Given the description of an element on the screen output the (x, y) to click on. 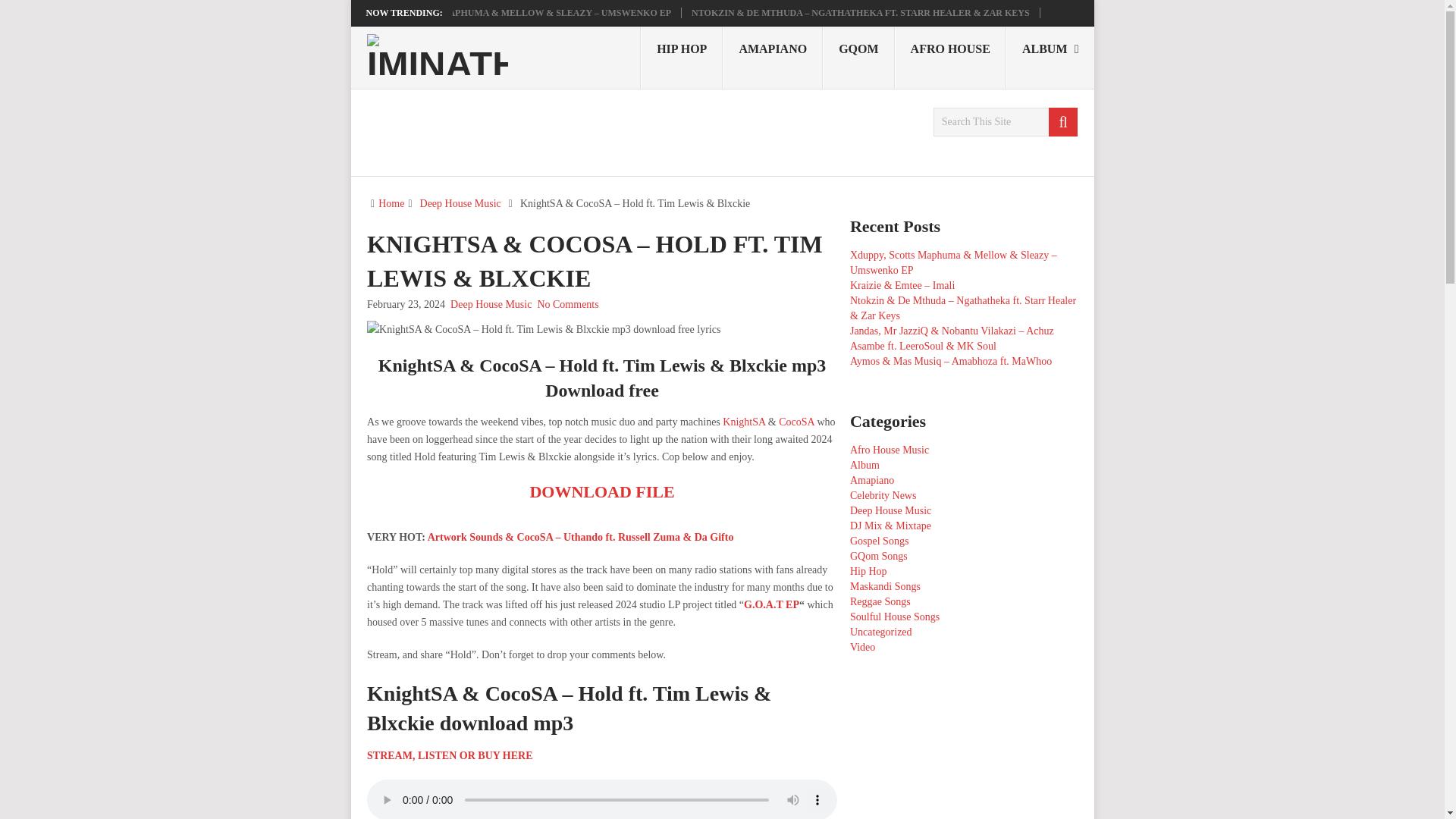
Download gQom Songs (857, 57)
Afro House Music Download (950, 57)
SA Hip Hop (681, 57)
HIP HOP (681, 57)
ALBUM (1050, 57)
AMAPIANO (772, 57)
KnightSA (743, 421)
GQOM (857, 57)
CocoSA (795, 421)
STREAM, LISTEN OR BUY HERE (449, 755)
G.O.A.T EP (771, 604)
AFRO HOUSE (950, 57)
Deep House Music (460, 203)
DOWNLOAD FILE (601, 491)
amapiano songs (772, 57)
